Given the description of an element on the screen output the (x, y) to click on. 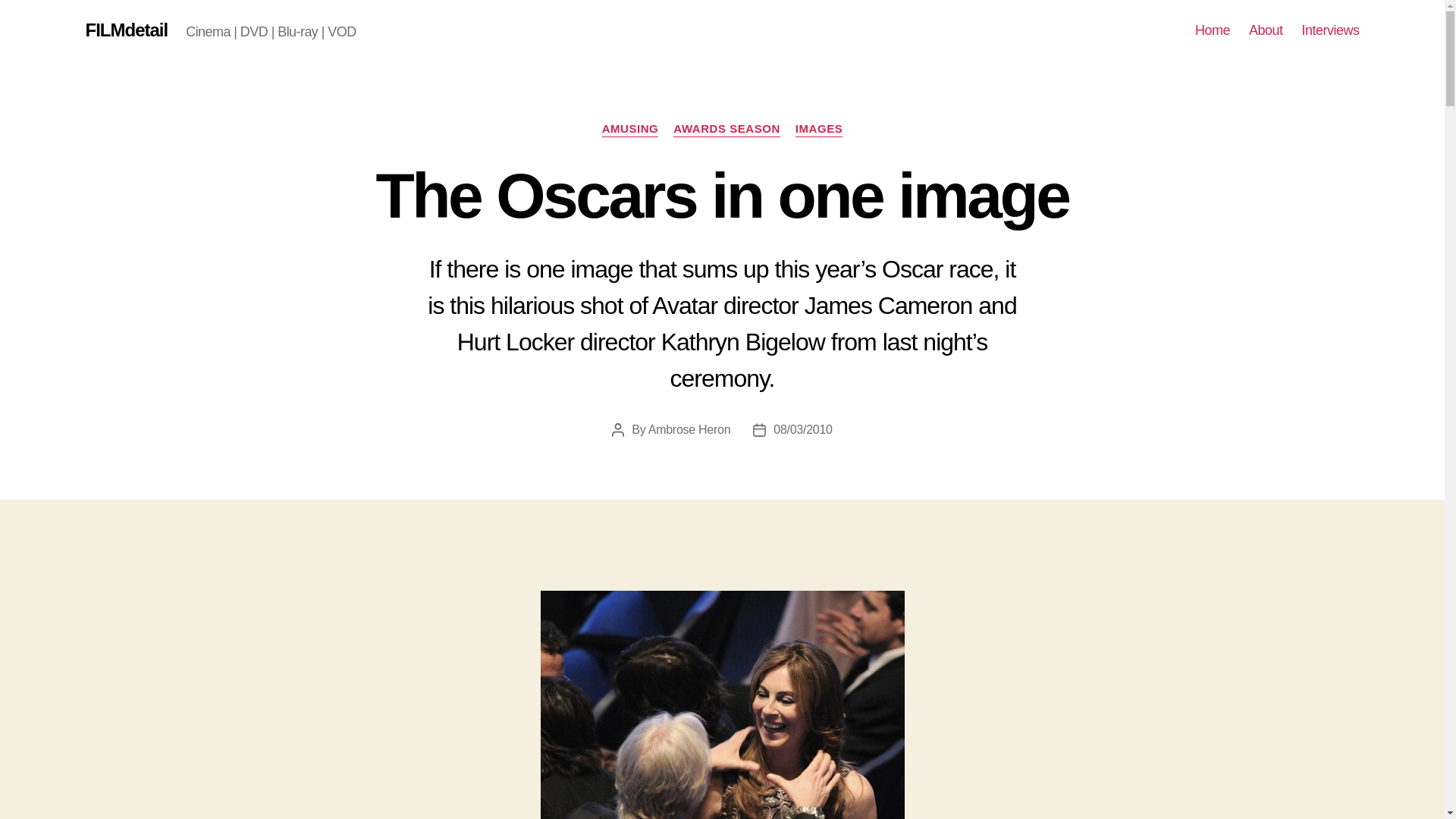
Home (1212, 30)
AWARDS SEASON (726, 129)
Interviews (1329, 30)
James Cameron vs Kathryn Bigelow (722, 704)
Ambrose Heron (688, 429)
About (1265, 30)
IMAGES (818, 129)
FILMdetail (125, 30)
AMUSING (630, 129)
